Given the description of an element on the screen output the (x, y) to click on. 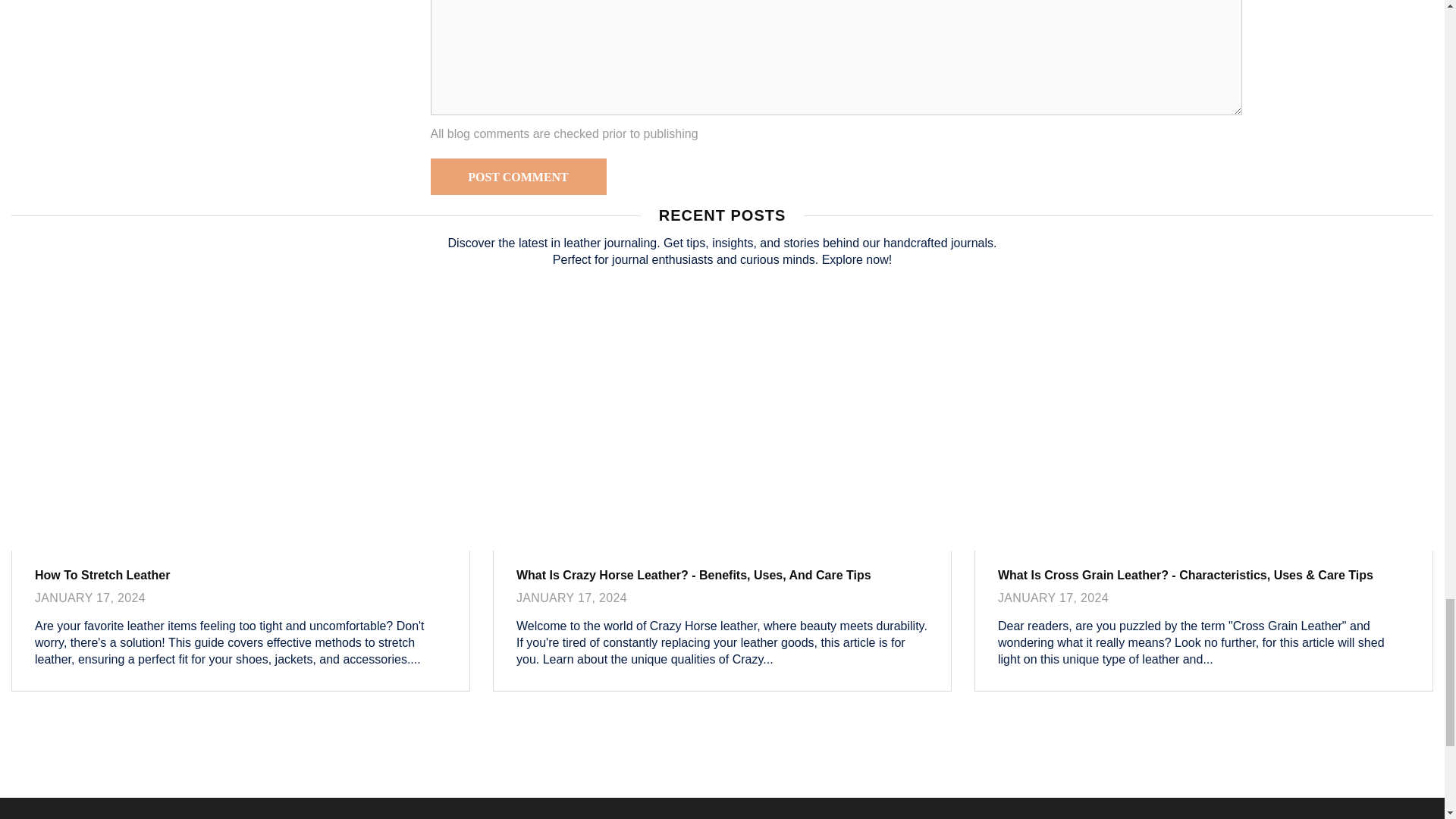
Post comment (518, 176)
